Given the description of an element on the screen output the (x, y) to click on. 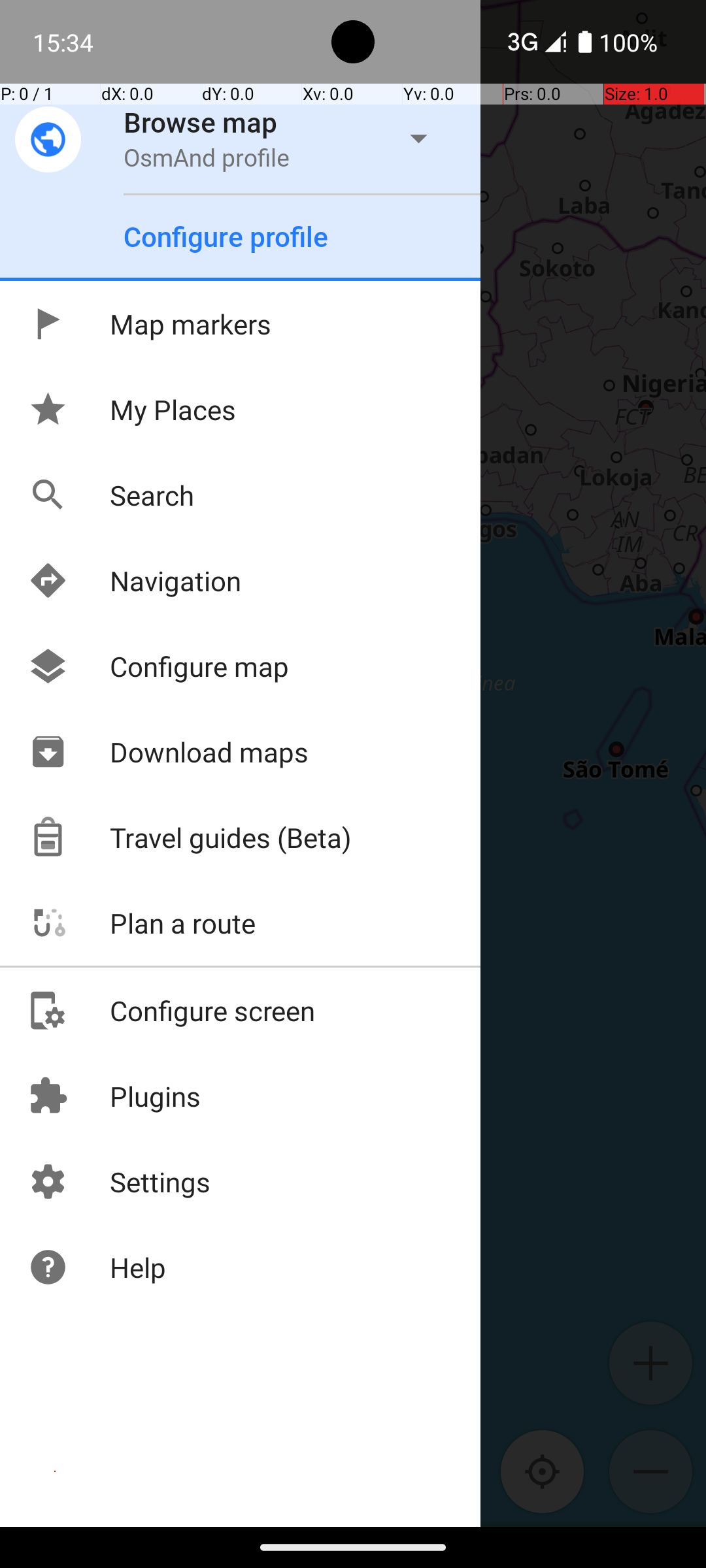
Browse map Element type: android.widget.TextView (200, 121)
OsmAnd profile Element type: android.widget.TextView (206, 156)
Configure profile Element type: android.widget.TextView (225, 235)
Map markers Element type: android.widget.TextView (149, 323)
My Places Element type: android.widget.TextView (131, 409)
Navigation Element type: android.widget.TextView (134, 580)
Download maps Element type: android.widget.TextView (168, 751)
Travel guides (Beta) Element type: android.widget.TextView (189, 837)
Plan a route Element type: android.widget.TextView (141, 922)
Configure screen Element type: android.widget.TextView (171, 1010)
Plugins Element type: android.widget.TextView (114, 1095)
Help Element type: android.widget.TextView (96, 1266)
